Given the description of an element on the screen output the (x, y) to click on. 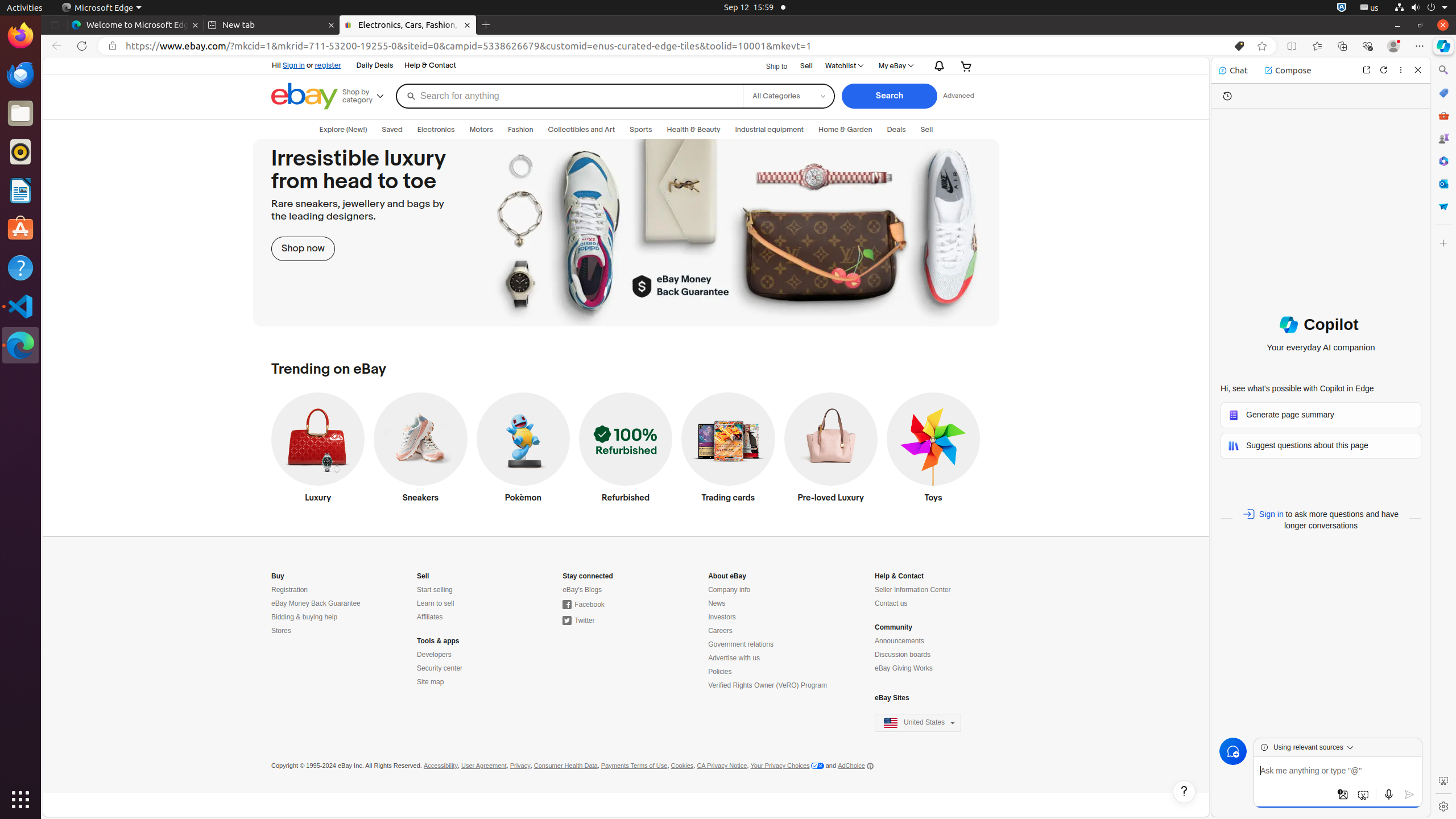
Sell Element type: link (806, 65)
Announcements Element type: link (899, 640)
All Categories Element type: menu-item (787, 87)
Help & Contact Element type: link (430, 65)
Visual Studio Code Element type: push-button (20, 306)
